Given the description of an element on the screen output the (x, y) to click on. 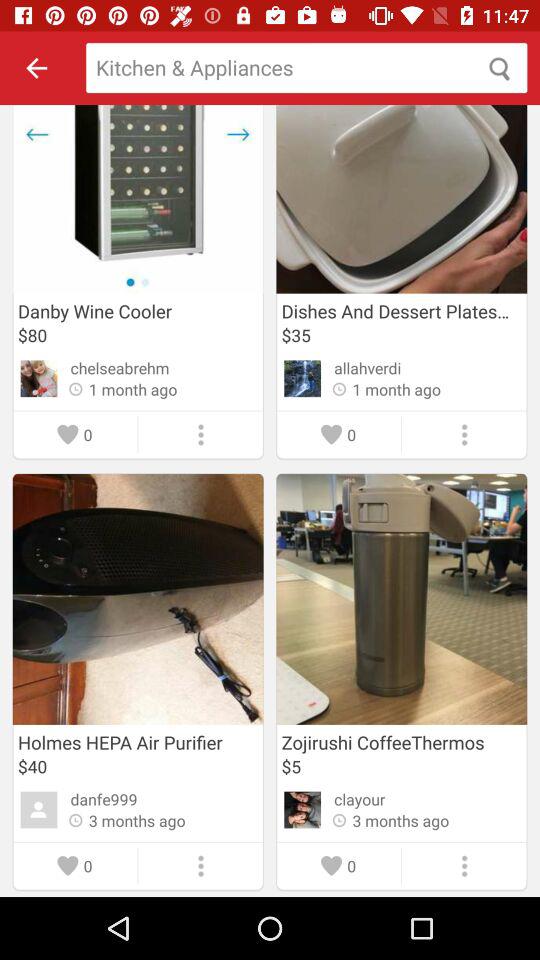
turn on item below the $35 item (367, 367)
